Given the description of an element on the screen output the (x, y) to click on. 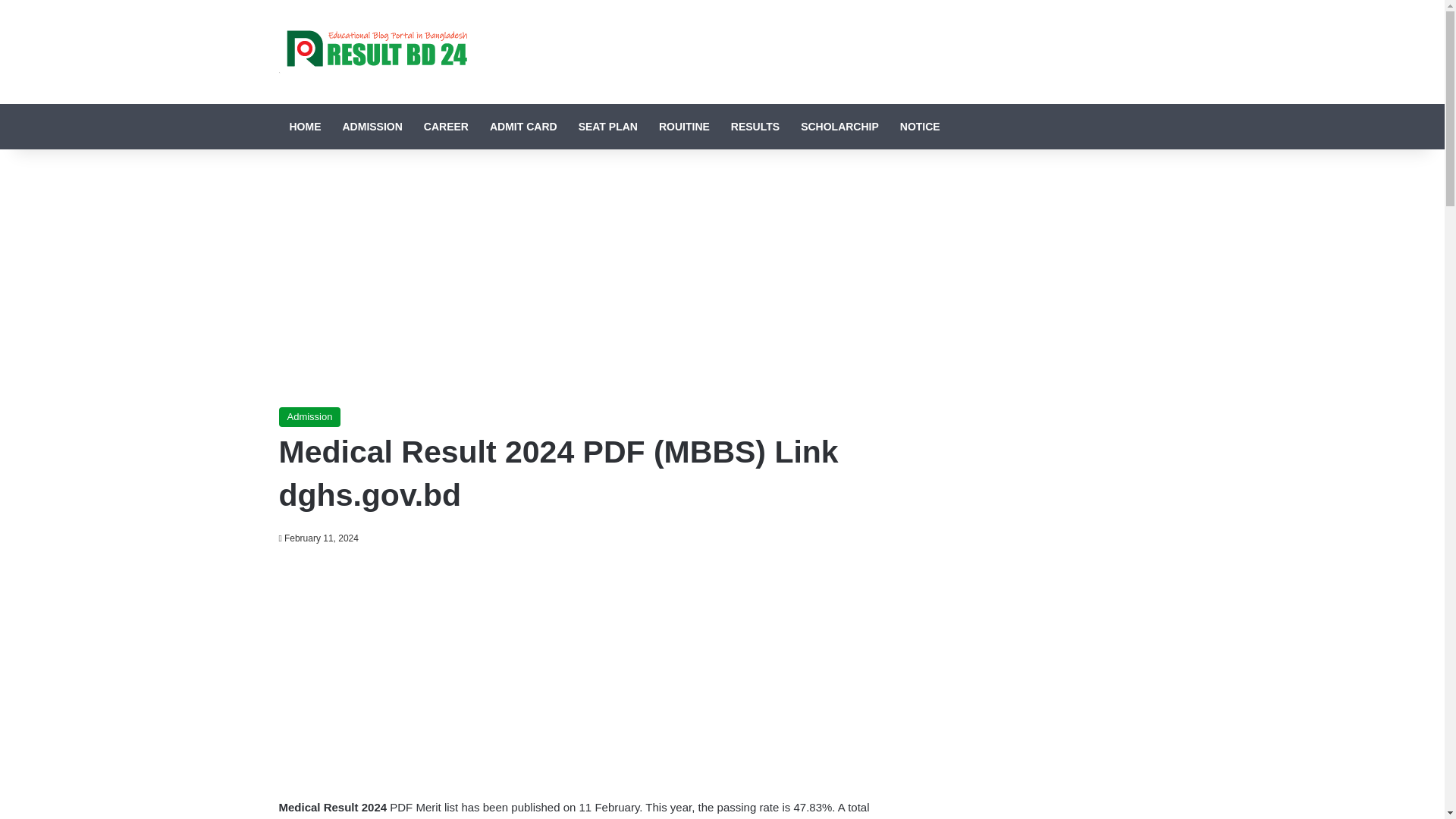
NOTICE (919, 126)
SCHOLARCHIP (839, 126)
CAREER (446, 126)
ADMIT CARD (523, 126)
Advertisement (574, 668)
HOME (305, 126)
ROUITINE (683, 126)
Advertisement (574, 277)
RESULTS (755, 126)
SEAT PLAN (607, 126)
Admission (309, 416)
ADMISSION (372, 126)
Result BD 24 (373, 51)
